Given the description of an element on the screen output the (x, y) to click on. 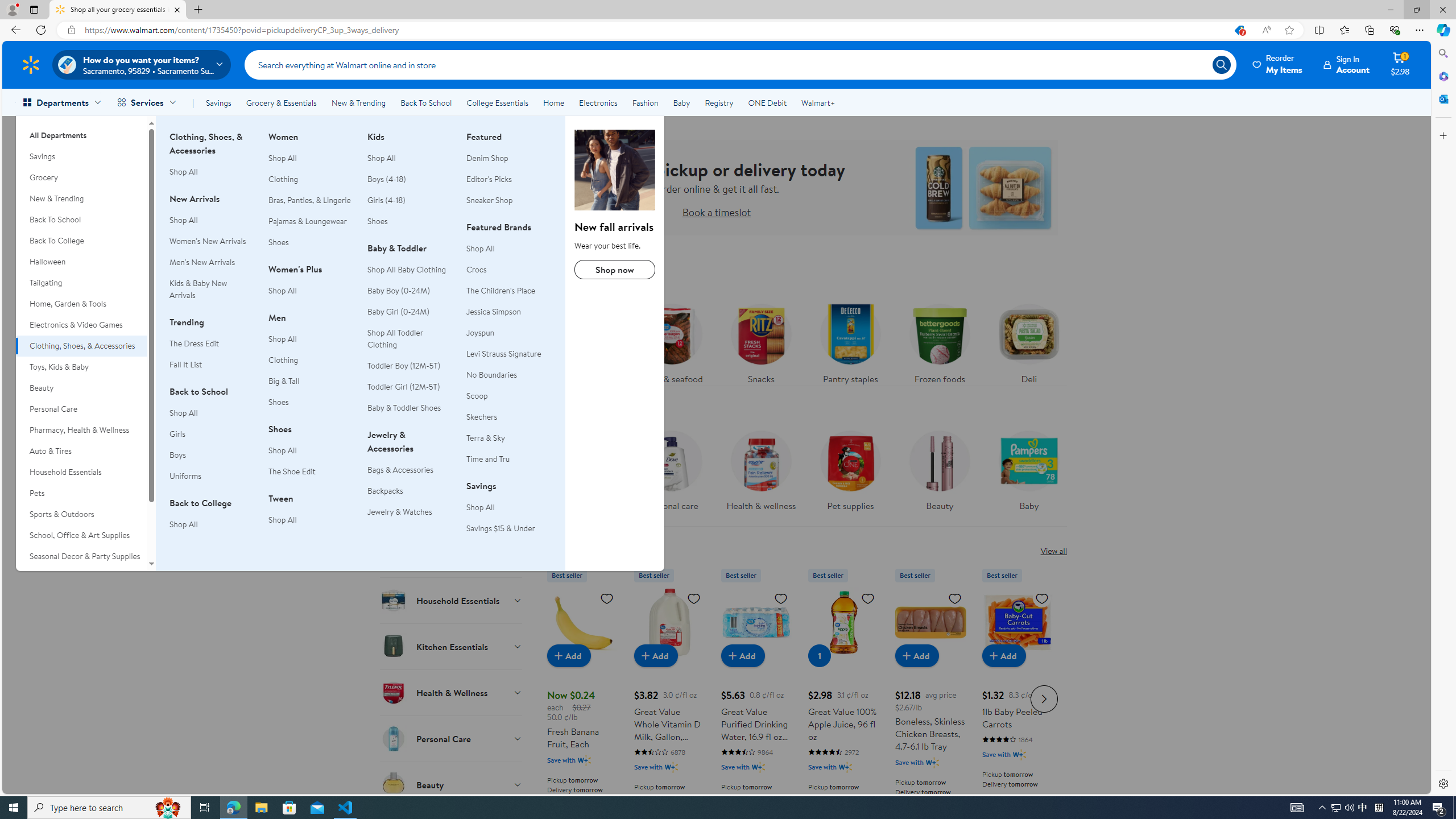
Next slide for Product Carousel list (1044, 698)
Toddler Boy (12M-5T) (403, 365)
Book a timeslot (716, 211)
Savings $15 & Under (508, 528)
Men's New Arrivals (211, 262)
TweenShop All (310, 515)
Baby (1028, 467)
Crocs (508, 269)
Bras, Panties, & Lingerie (310, 200)
Back to SchoolShop AllGirlsBoysUniforms (211, 440)
